Given the description of an element on the screen output the (x, y) to click on. 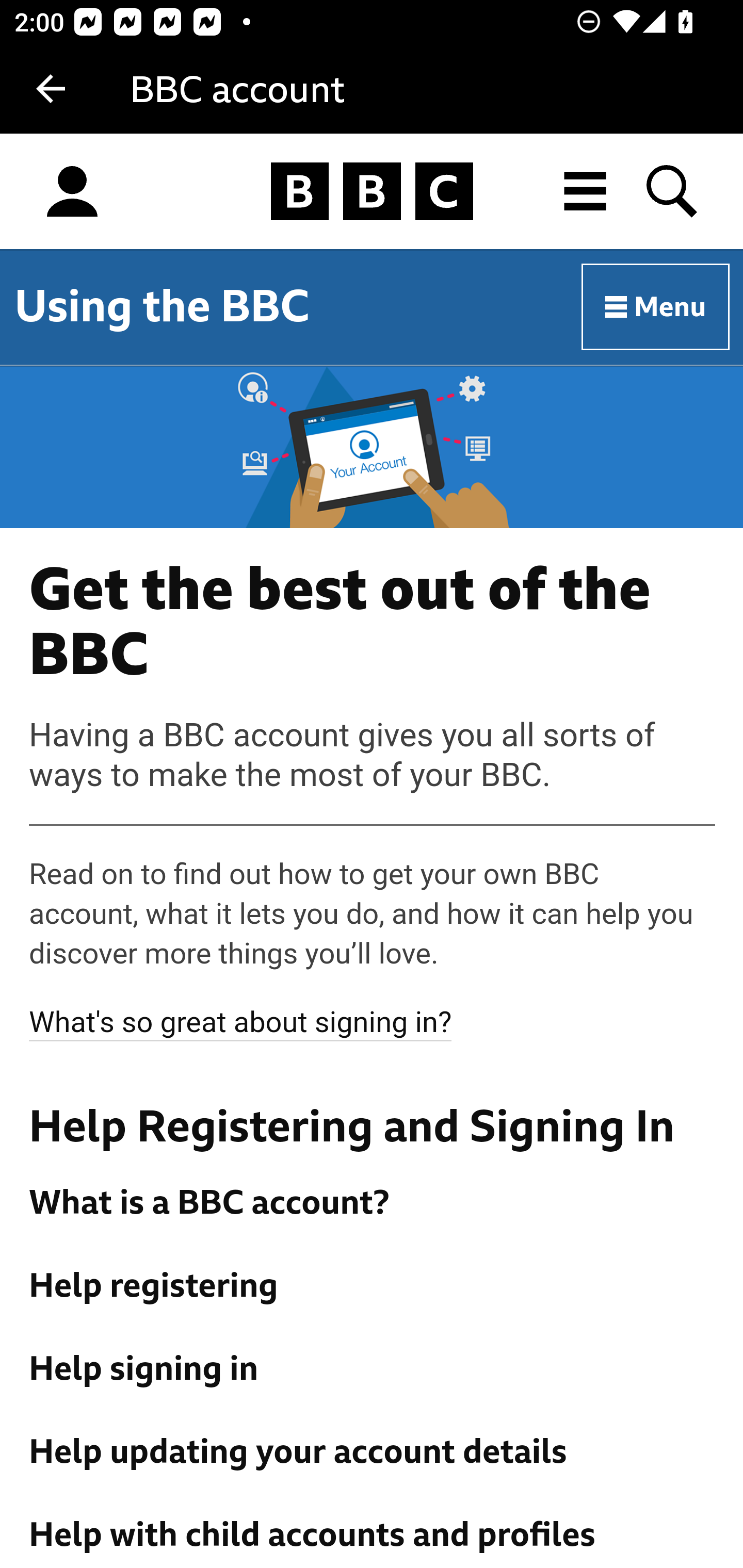
All BBC destinations menu (585, 191)
Search BBC (672, 191)
Sign in (71, 192)
Homepage (371, 192)
Menu (656, 307)
Using the BBC (162, 306)
What's so great about signing in? (240, 1022)
What is a BBC account? (372, 1203)
Help registering (372, 1286)
Help signing in (372, 1369)
Help updating your account details (372, 1451)
Help with child accounts and profiles (372, 1534)
